Given the description of an element on the screen output the (x, y) to click on. 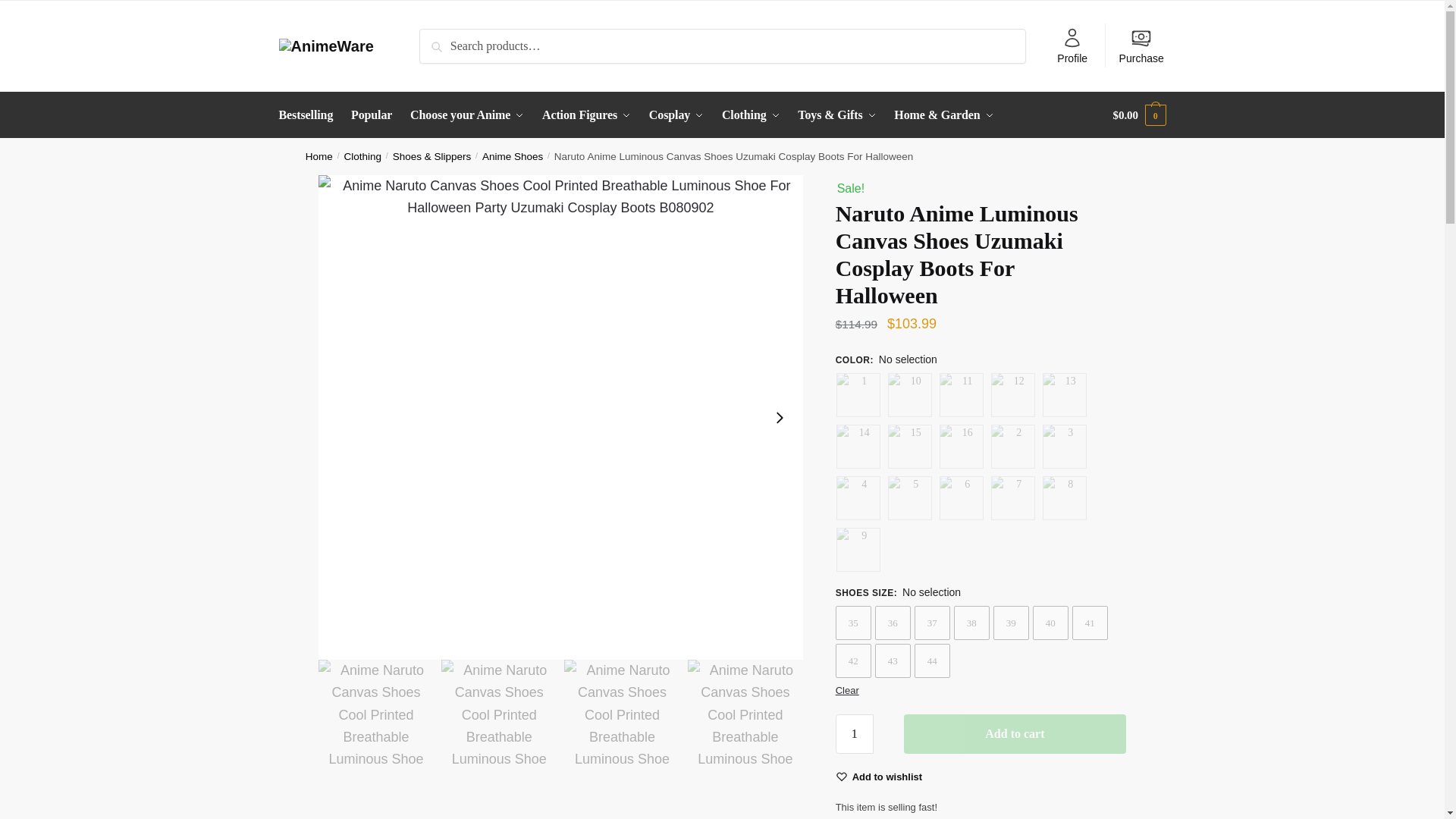
Popular (370, 115)
Purchase (1141, 45)
Choose your Anime (467, 115)
1 (854, 733)
View your shopping cart (1139, 115)
Search (443, 41)
Profile (1072, 45)
Bestselling (309, 115)
